Given the description of an element on the screen output the (x, y) to click on. 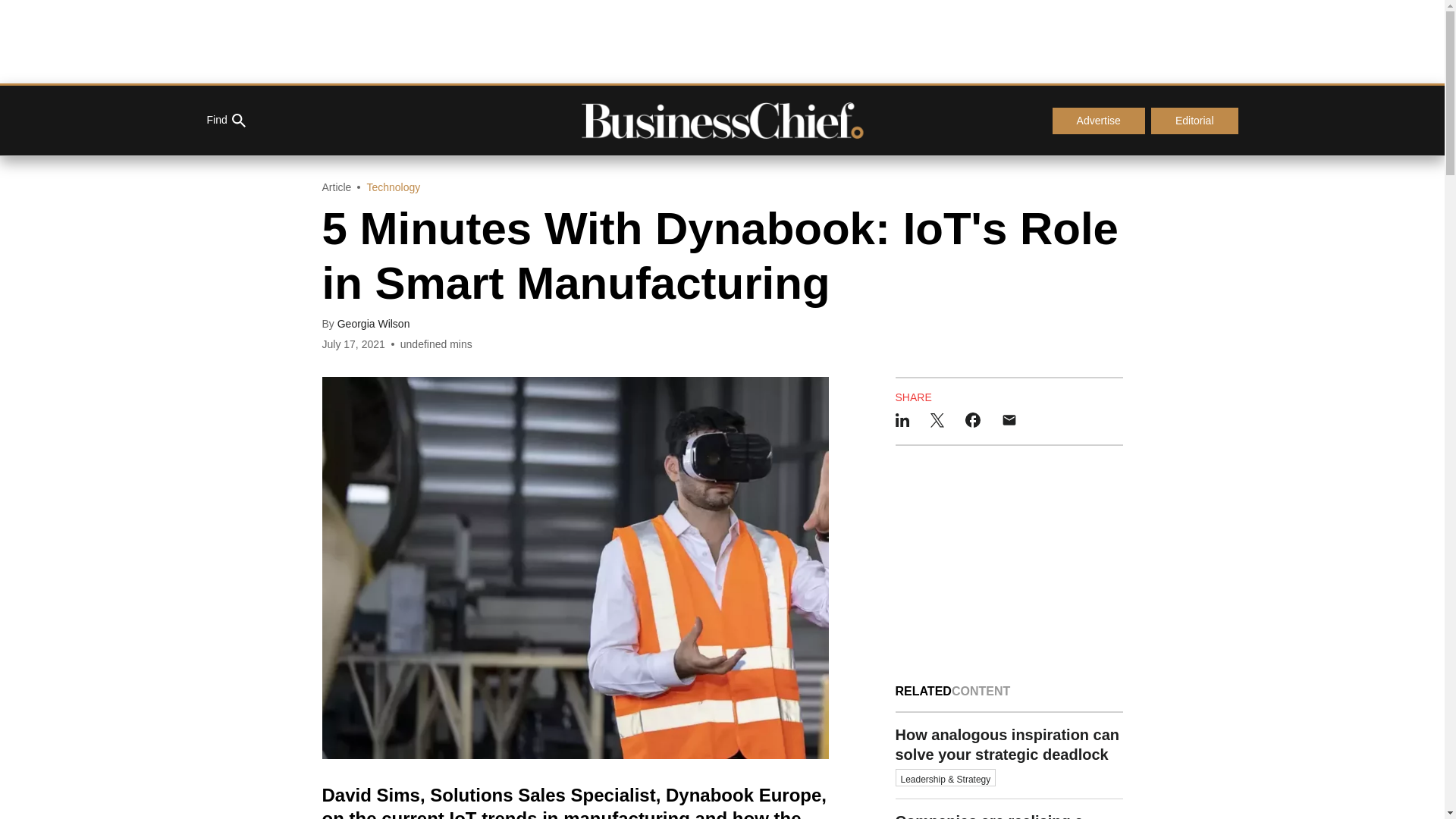
Advertise (1098, 121)
Editorial (1195, 121)
Find (225, 120)
Georgia Wilson (373, 323)
